Given the description of an element on the screen output the (x, y) to click on. 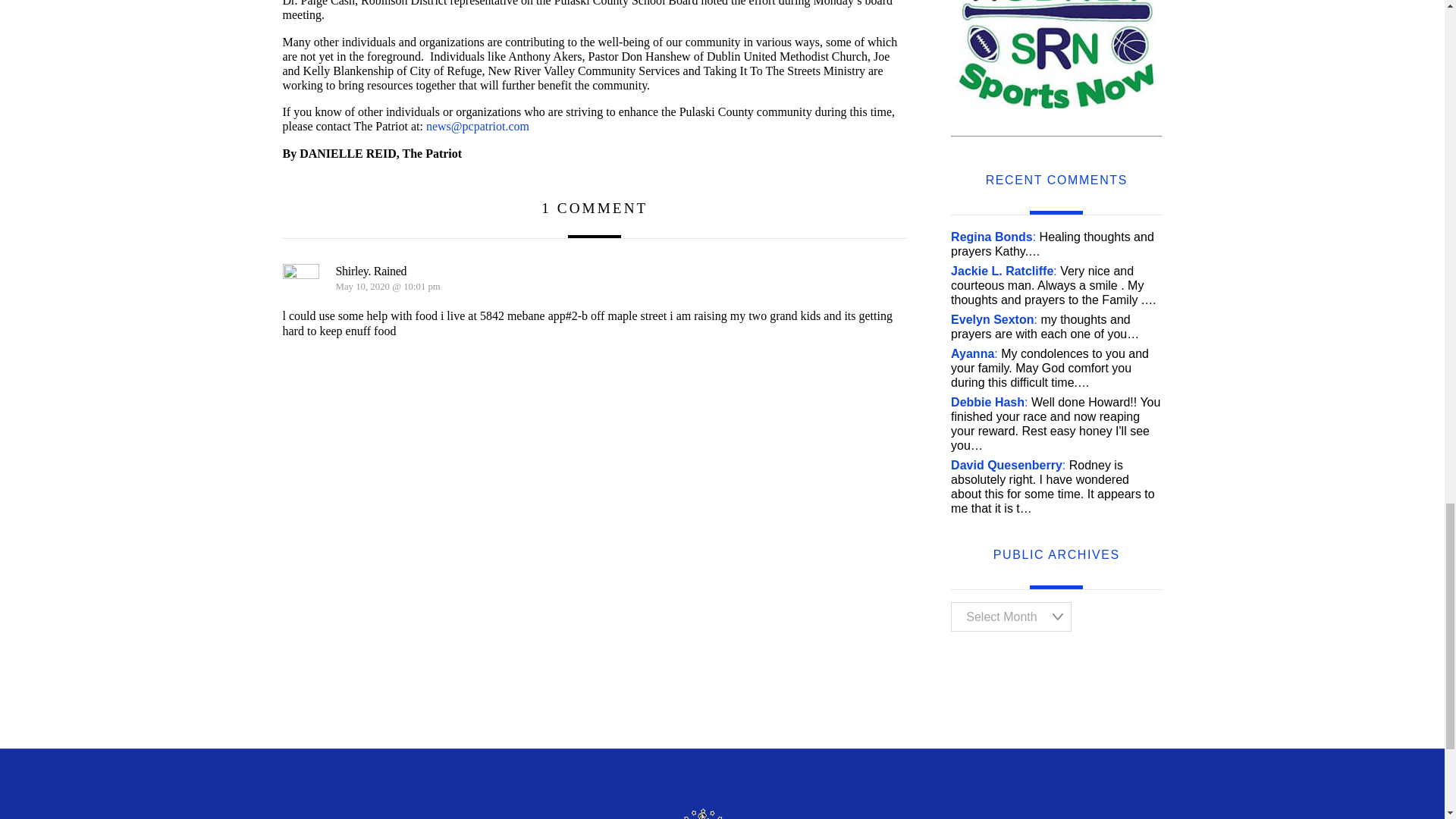
Ayanna: (973, 353)
David Quesenberry: (1007, 464)
Jackie L. Ratcliffe: (1003, 270)
Evelyn Sexton: (993, 318)
Debbie Hash: (988, 401)
Regina Bonds: (992, 236)
